Given the description of an element on the screen output the (x, y) to click on. 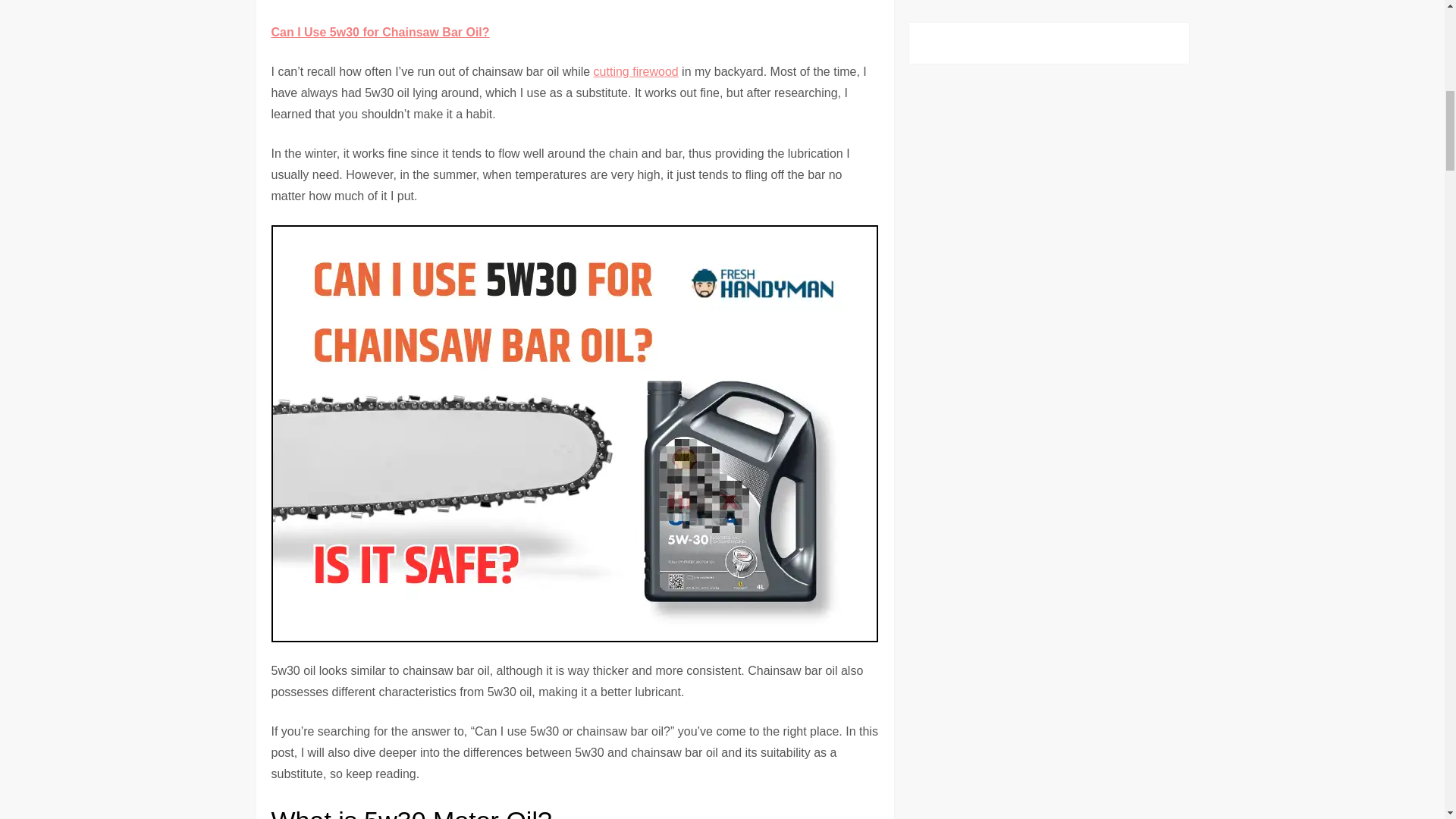
cutting firewood (636, 71)
Can I Use 5w30 for Chainsaw Bar Oil? (379, 31)
